Given the description of an element on the screen output the (x, y) to click on. 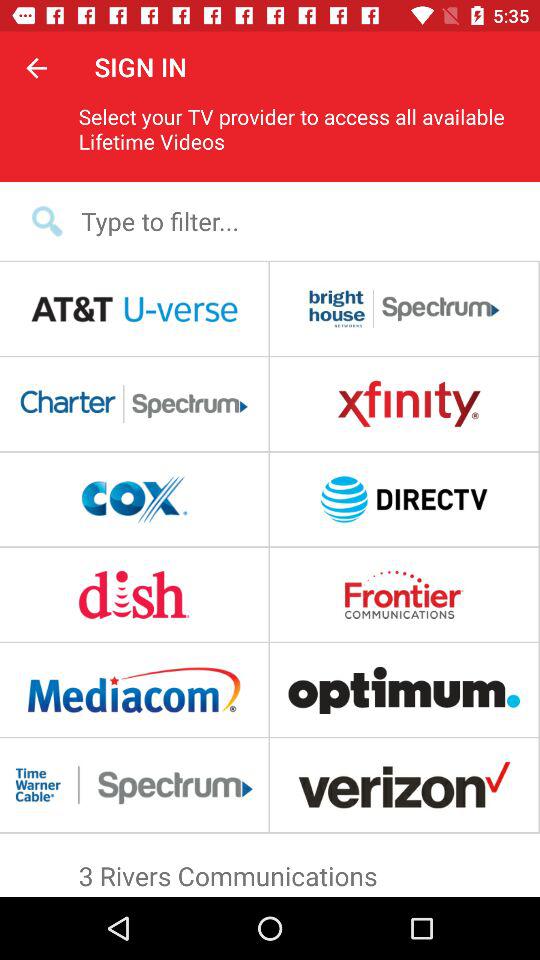
filter company (283, 220)
